Given the description of an element on the screen output the (x, y) to click on. 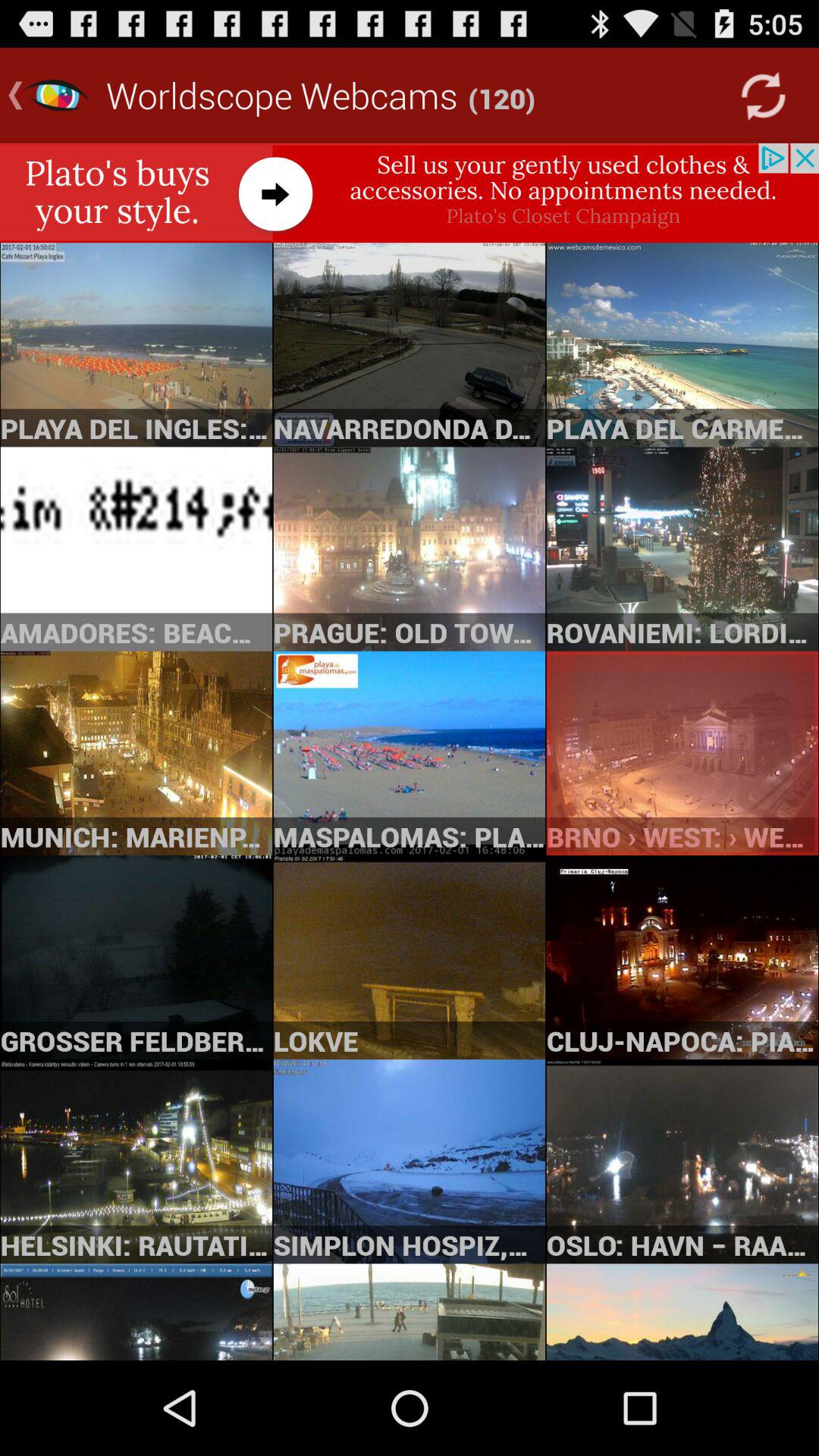
link to advertisement (409, 192)
